Given the description of an element on the screen output the (x, y) to click on. 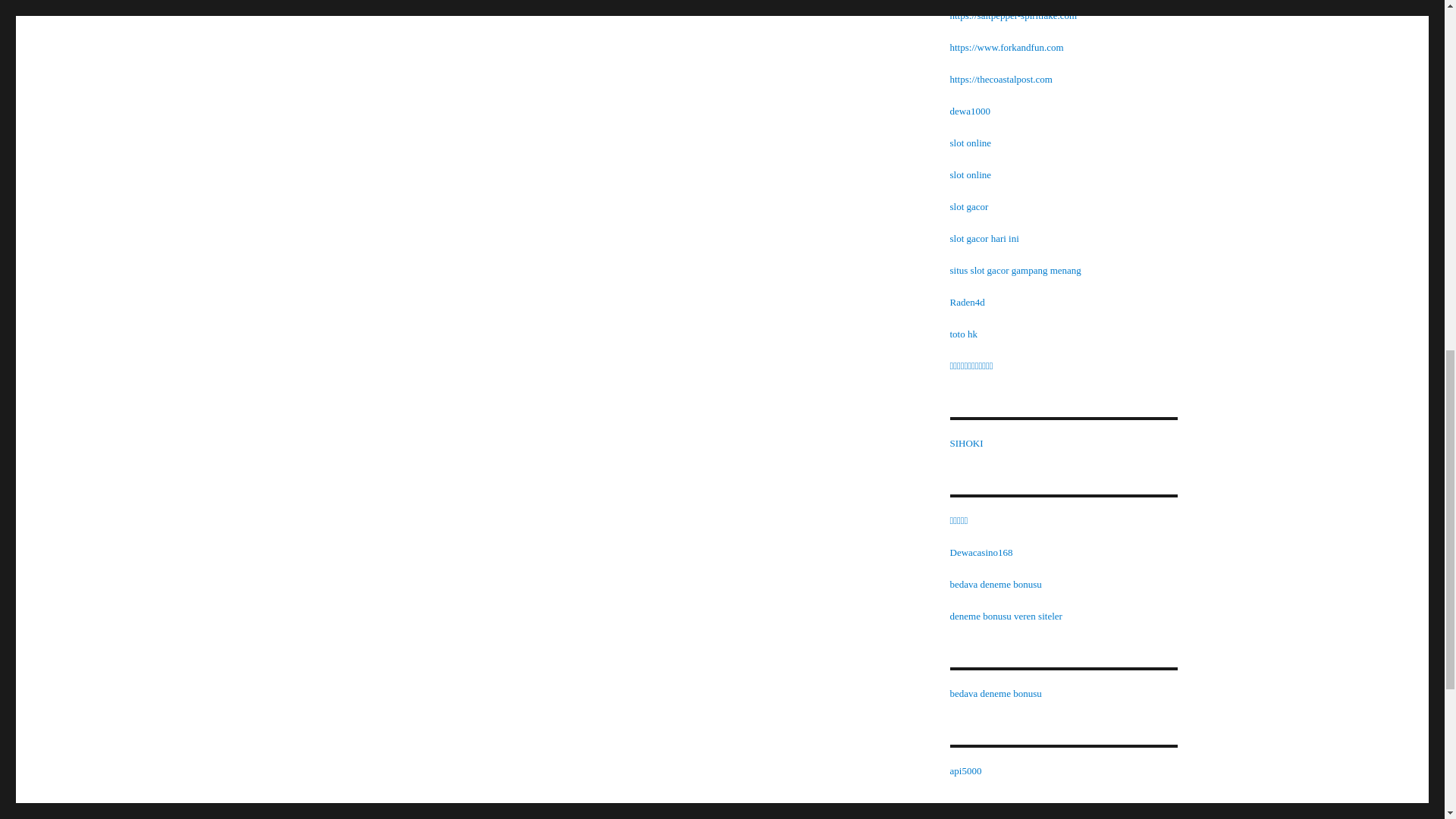
bedava deneme bonusu (995, 693)
Dewacasino168 (980, 552)
bedava deneme bonusu (995, 583)
slot online (970, 174)
dewa1000 (969, 111)
situs slot gacor gampang menang (1014, 270)
slot online (970, 142)
deneme bonusu veren siteler (1005, 615)
toto hk (962, 333)
slot gacor (968, 206)
SIHOKI (965, 442)
slot gacor hari ini (983, 238)
Raden4d (966, 301)
